Given the description of an element on the screen output the (x, y) to click on. 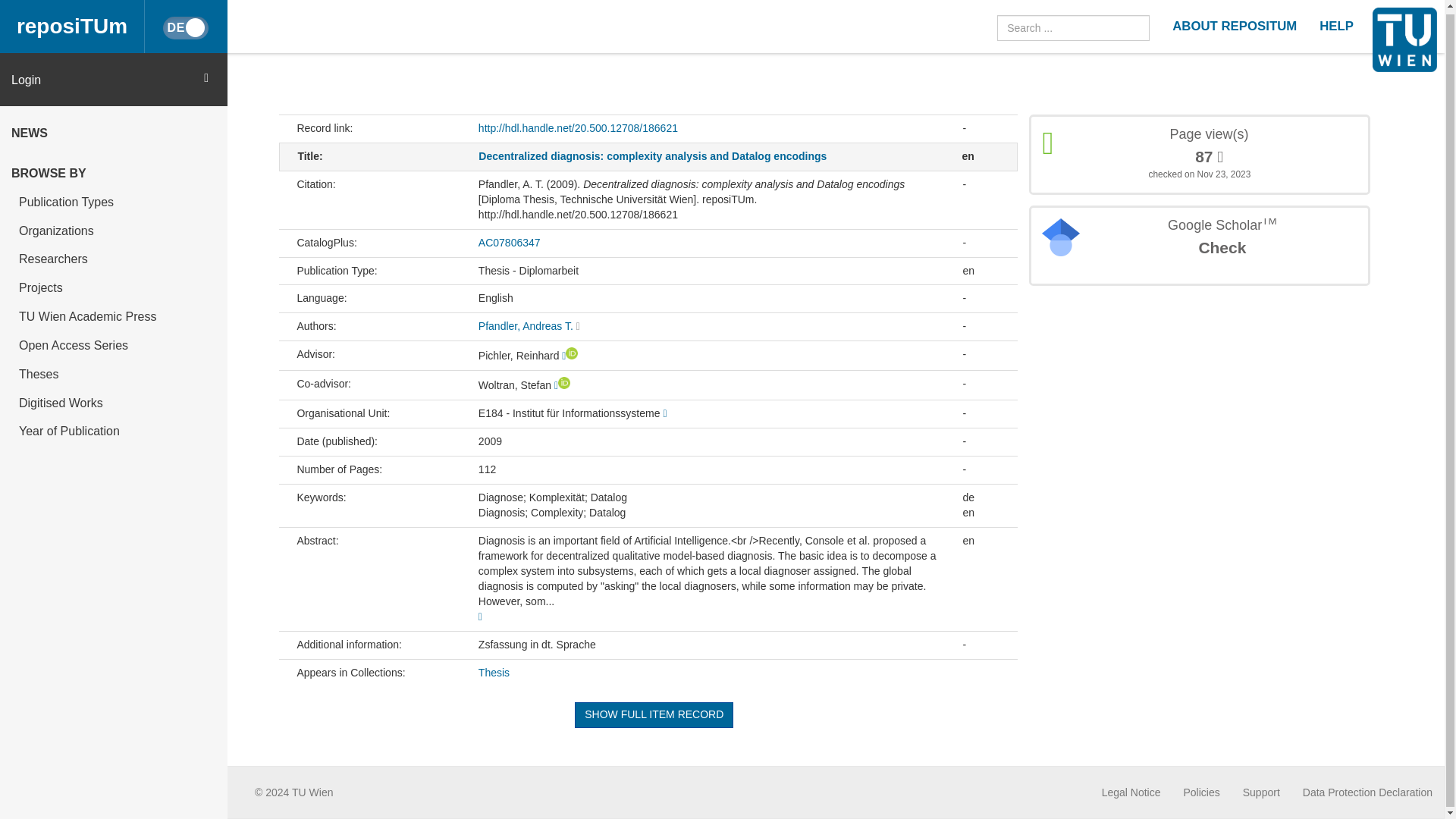
Data Protection Declaration (1367, 792)
HELP (1336, 24)
Theses (114, 369)
Researchers (114, 254)
87 (1209, 156)
reposiTUm (72, 24)
Check (1221, 247)
ABOUT REPOSITUM (1233, 24)
BROWSE BY (114, 168)
Switch to German (185, 24)
